Given the description of an element on the screen output the (x, y) to click on. 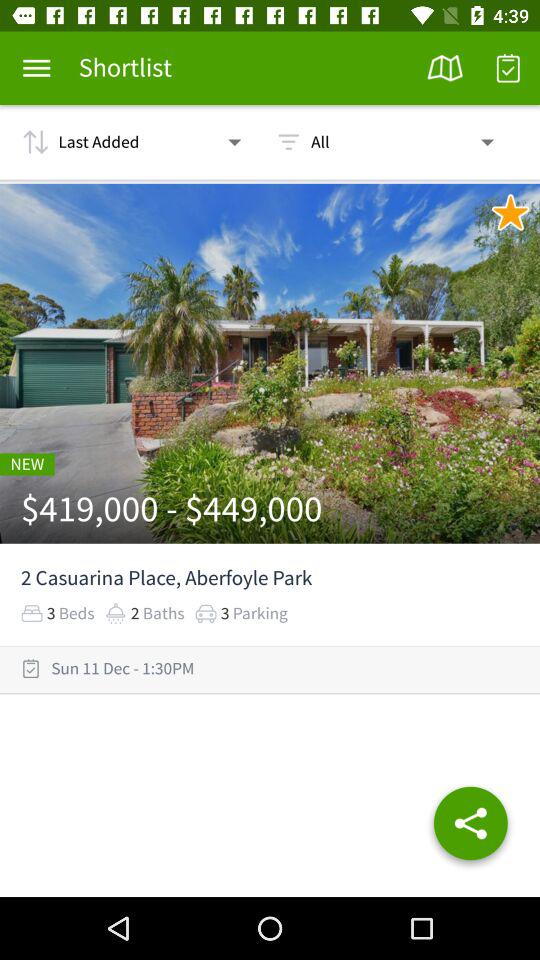
click the menu button (36, 68)
